Given the description of an element on the screen output the (x, y) to click on. 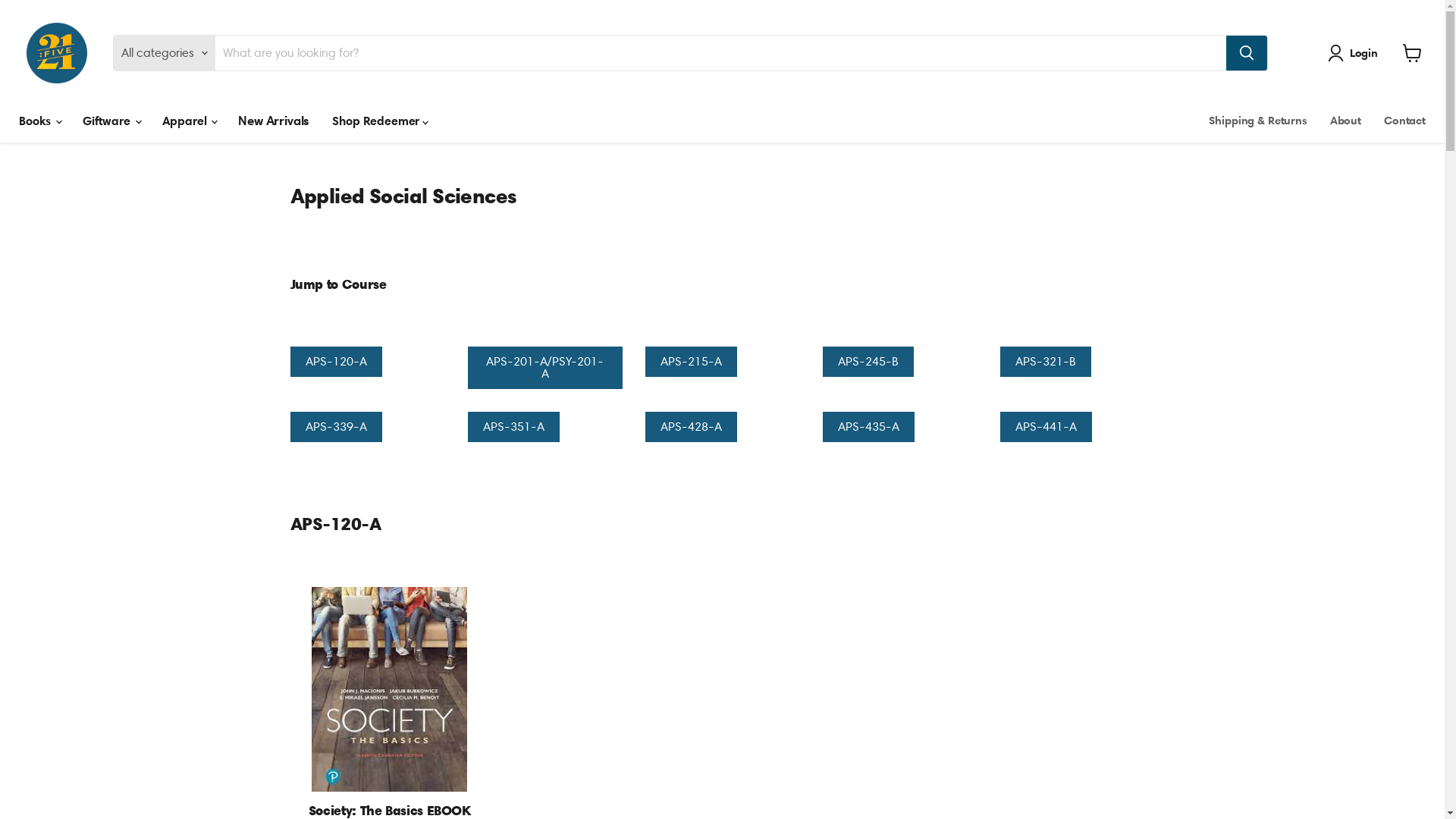
APS-321-B Element type: text (1044, 361)
Contact Element type: text (1404, 120)
APS-201-A/PSY-201-A Element type: text (544, 367)
APS-245-B Element type: text (867, 361)
APS-435-A Element type: text (867, 426)
New Arrivals Element type: text (273, 120)
Login Element type: text (1355, 52)
APS-339-A Element type: text (335, 426)
APS-215-A Element type: text (690, 361)
Shipping & Returns Element type: text (1257, 120)
APS-428-A Element type: text (690, 426)
APS-441-A Element type: text (1045, 426)
About Element type: text (1345, 120)
View cart Element type: text (1412, 52)
APS-120-A Element type: text (335, 361)
APS-351-A Element type: text (512, 426)
